Given the description of an element on the screen output the (x, y) to click on. 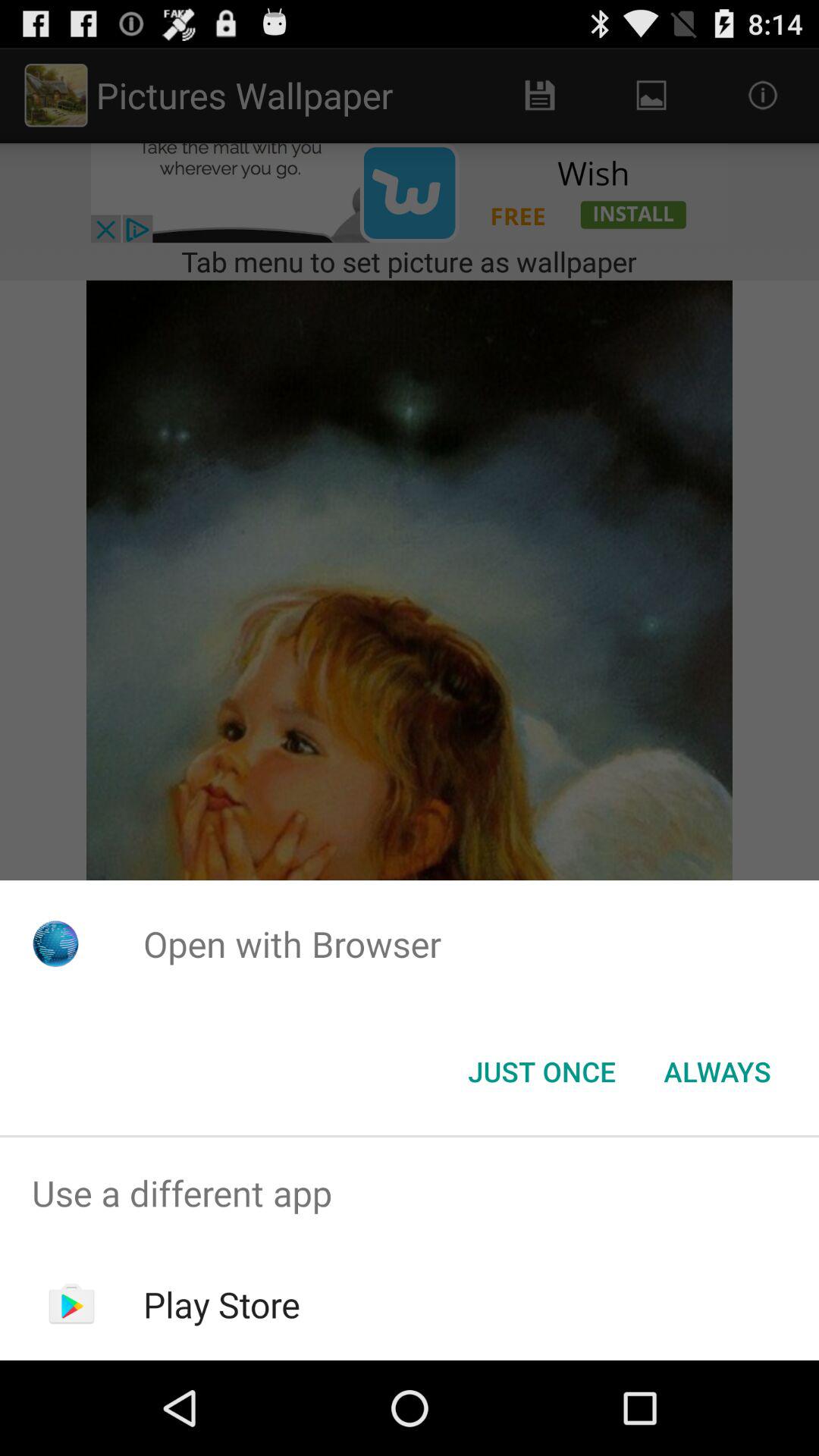
click always button (717, 1071)
